Given the description of an element on the screen output the (x, y) to click on. 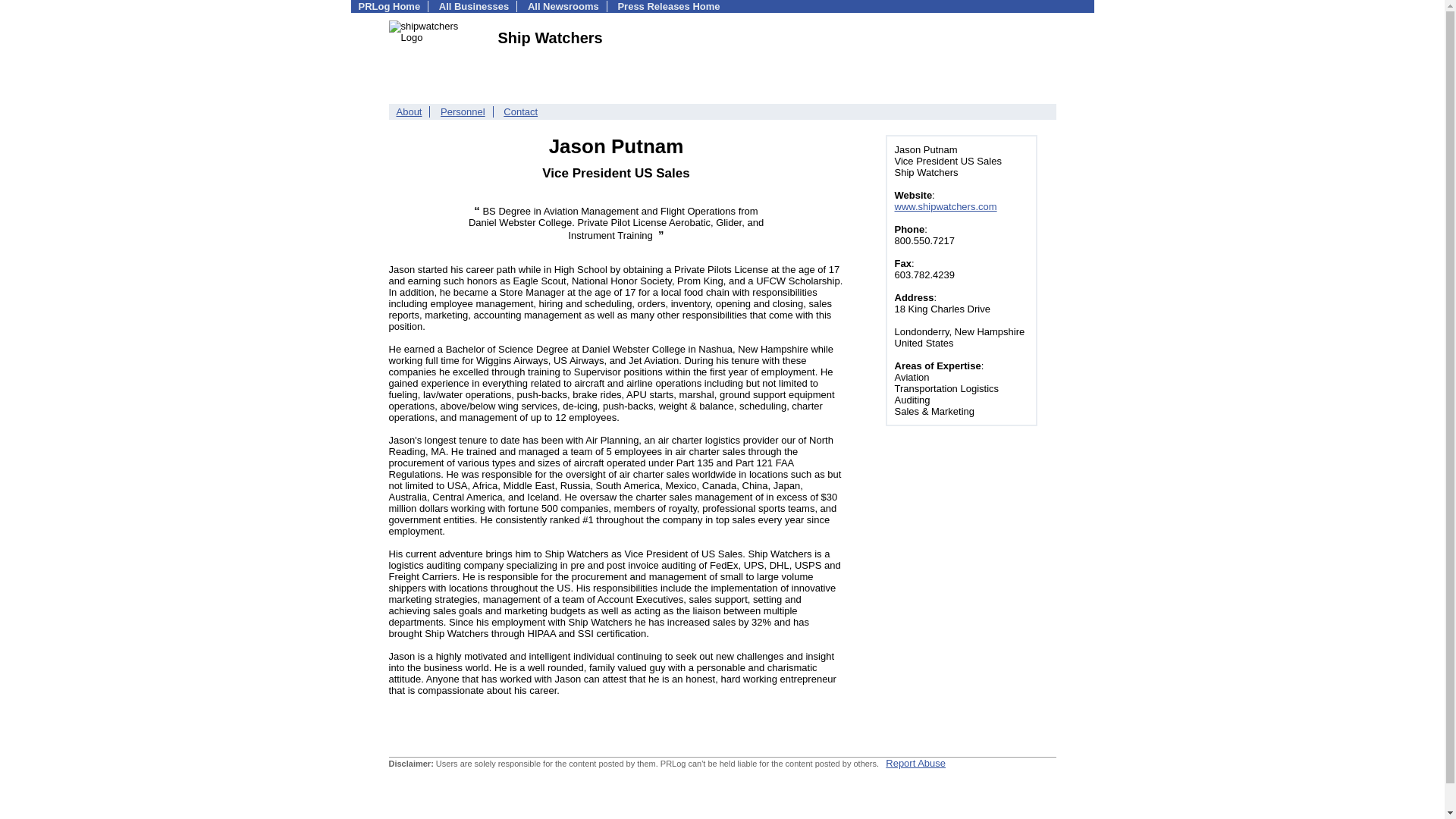
About (409, 111)
Press Releases Home (668, 6)
All Newsrooms (562, 6)
Personnel (462, 111)
All Businesses (474, 6)
www.shipwatchers.com (946, 206)
Contact (520, 111)
Report Abuse (914, 763)
PRLog Home (389, 6)
